Given the description of an element on the screen output the (x, y) to click on. 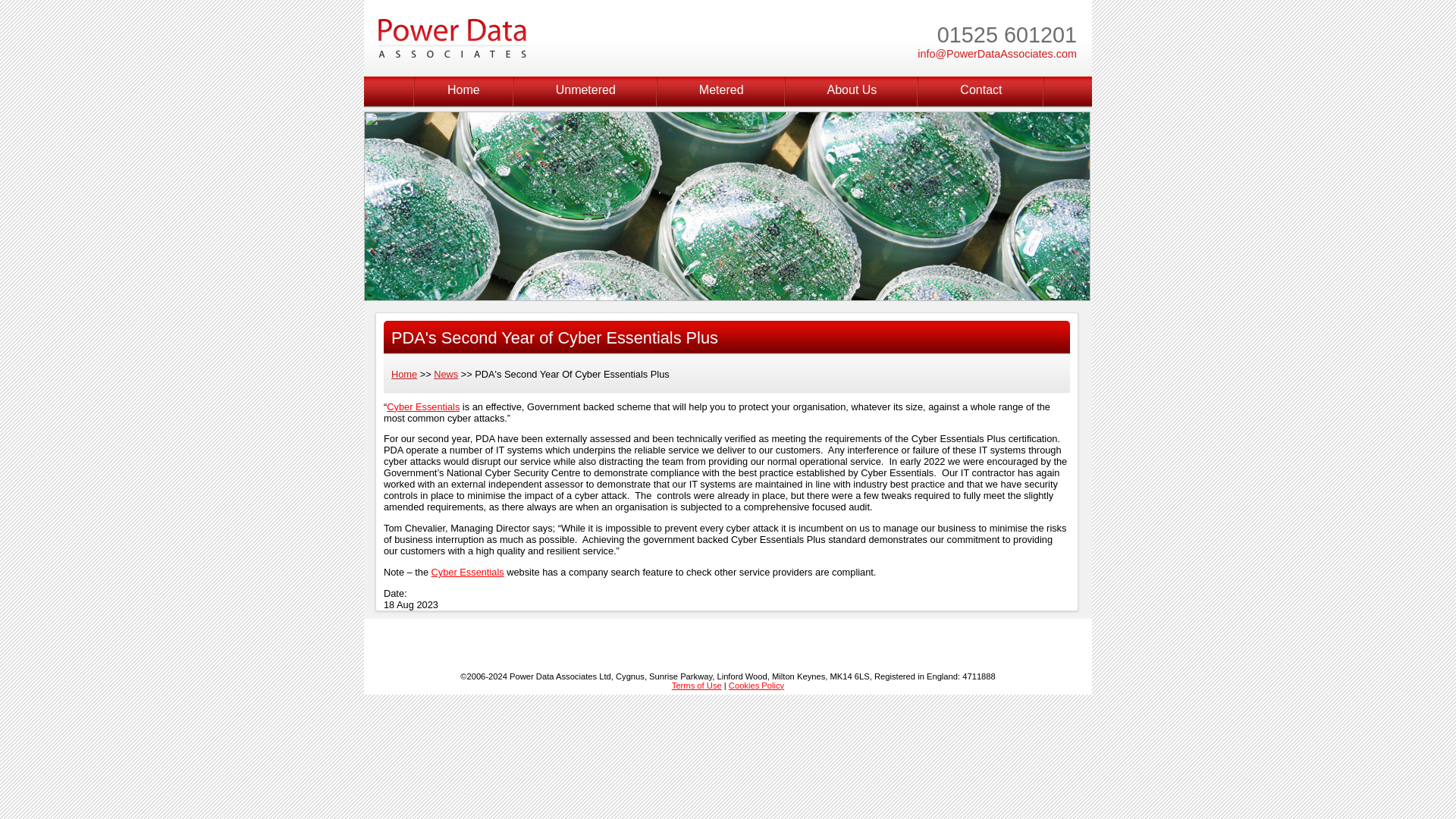
Unmetered (585, 91)
Home (463, 91)
